Given the description of an element on the screen output the (x, y) to click on. 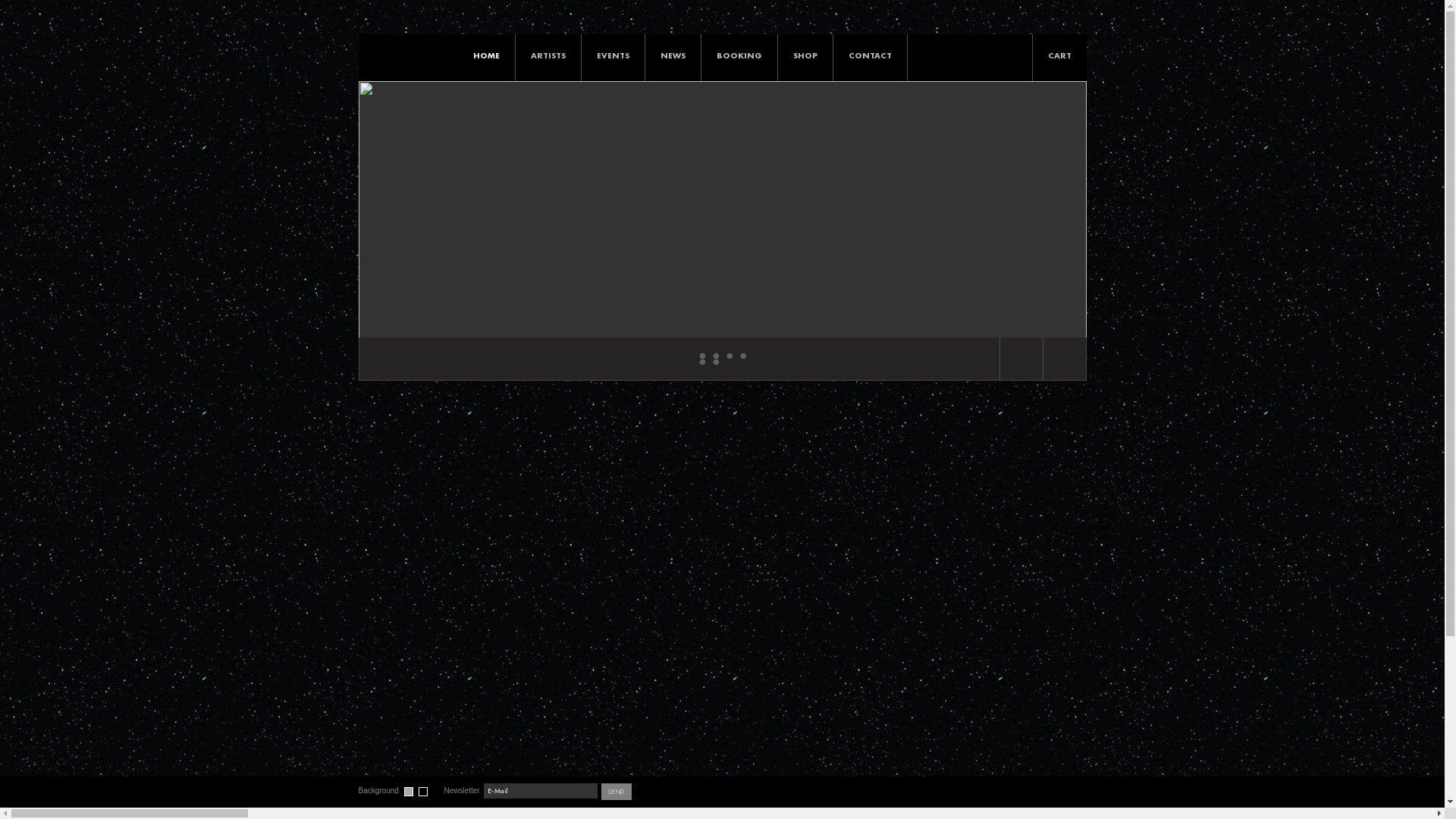
ARTISTS Element type: text (547, 55)
NEWS Element type: text (671, 55)
SHOP Element type: text (805, 55)
Send Element type: text (616, 791)
CONTACT Element type: text (869, 55)
BOOKING Element type: text (738, 55)
EVENTS Element type: text (611, 55)
CART Element type: text (1059, 74)
HOME Element type: text (486, 55)
